Given the description of an element on the screen output the (x, y) to click on. 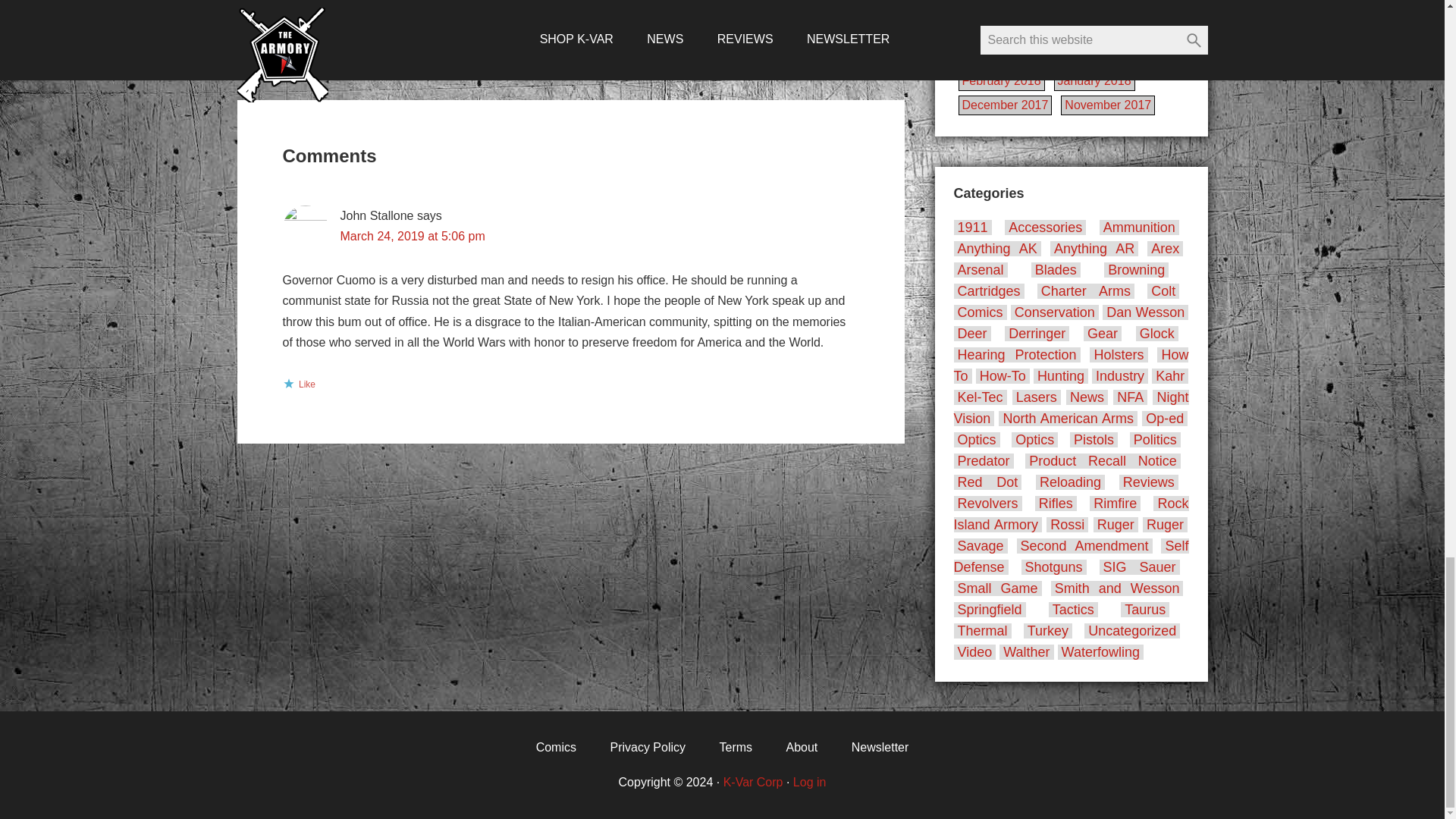
NRA (442, 6)
New York (397, 6)
March 24, 2019 at 5:06 pm (411, 236)
